Given the description of an element on the screen output the (x, y) to click on. 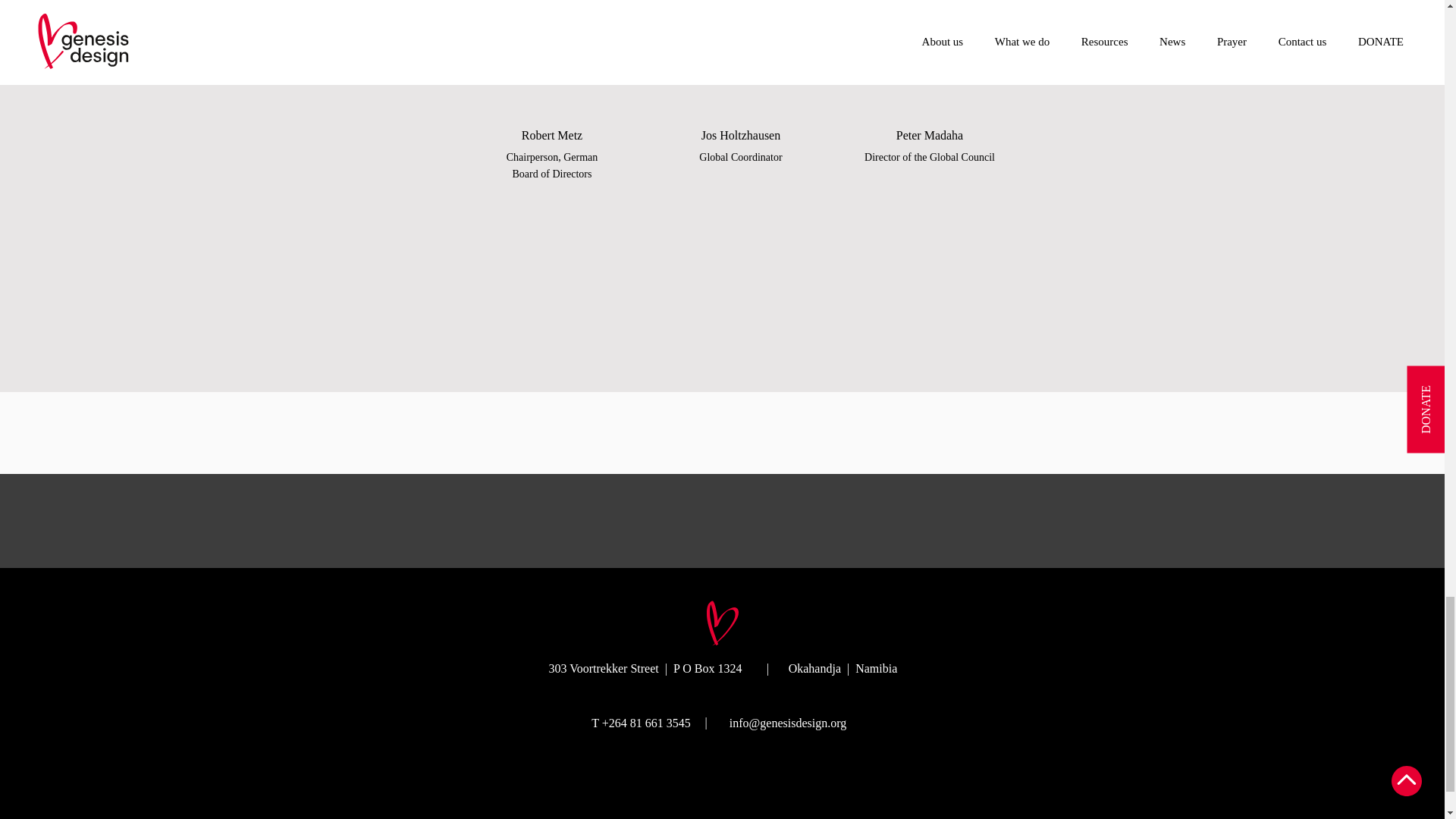
Robert Metz (553, 59)
Jos Holtzhausen (930, 59)
Jos Holtzhausen (741, 59)
